Given the description of an element on the screen output the (x, y) to click on. 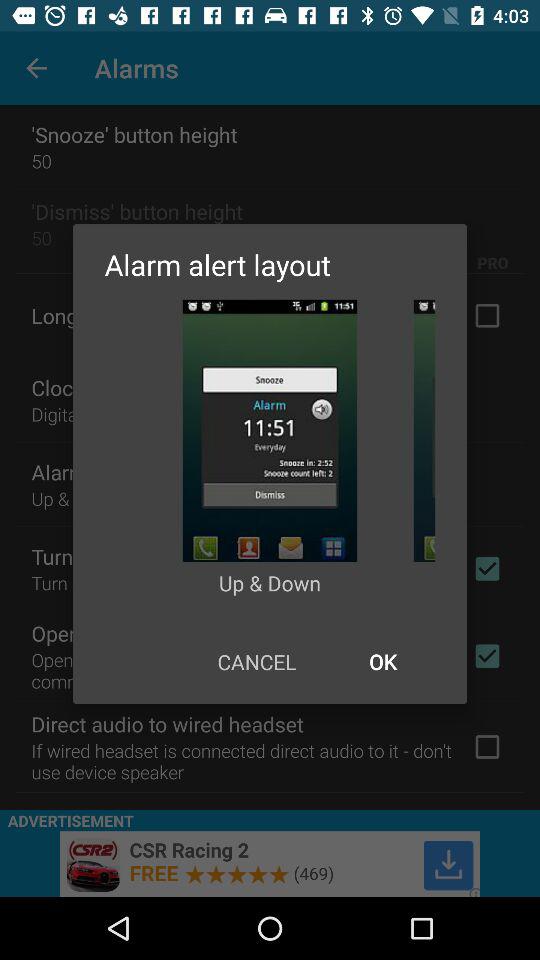
click cancel at the bottom (256, 661)
